Given the description of an element on the screen output the (x, y) to click on. 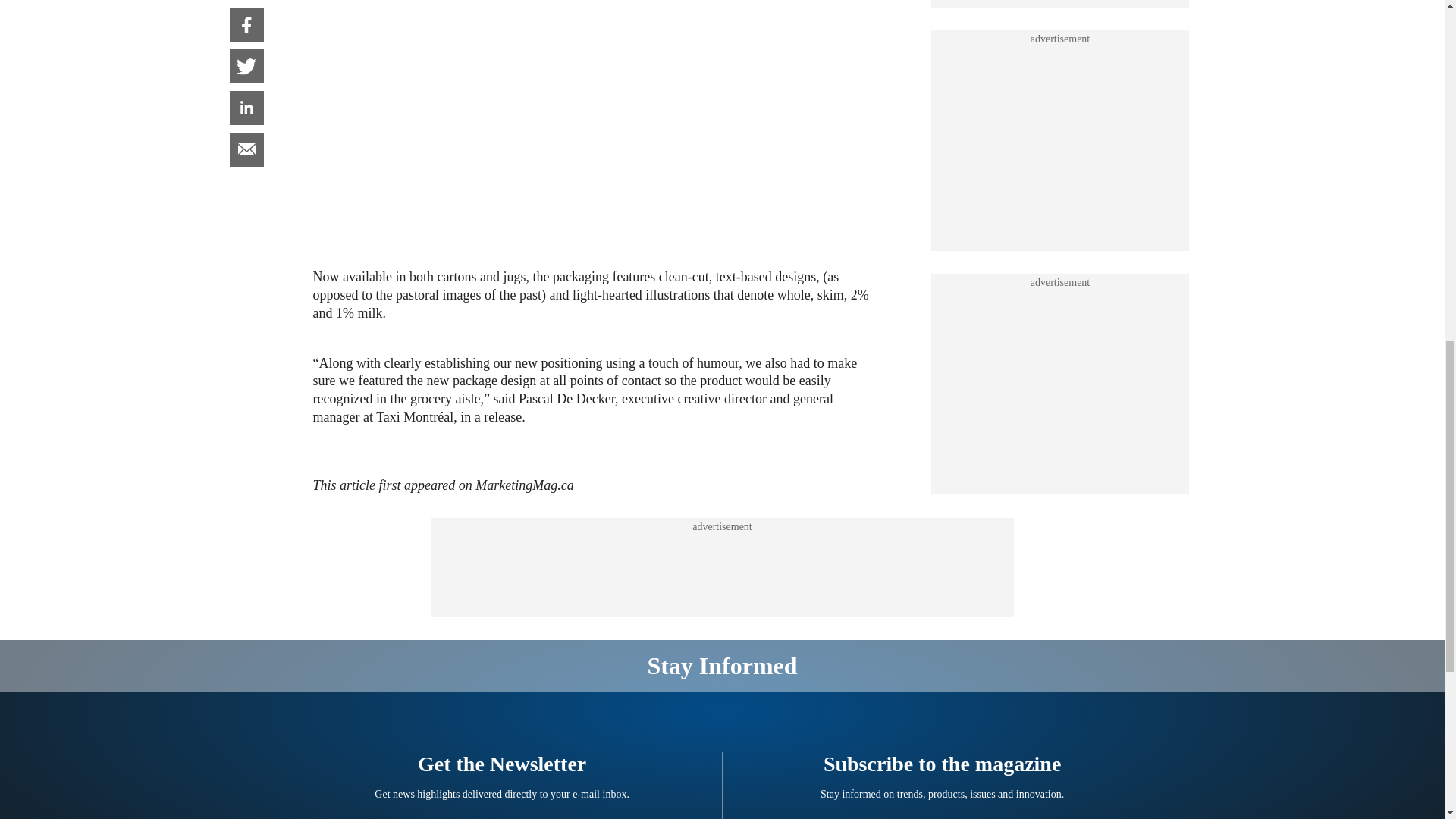
3rd party ad content (721, 567)
3rd party ad content (1059, 215)
3rd party ad content (1059, 33)
